Given the description of an element on the screen output the (x, y) to click on. 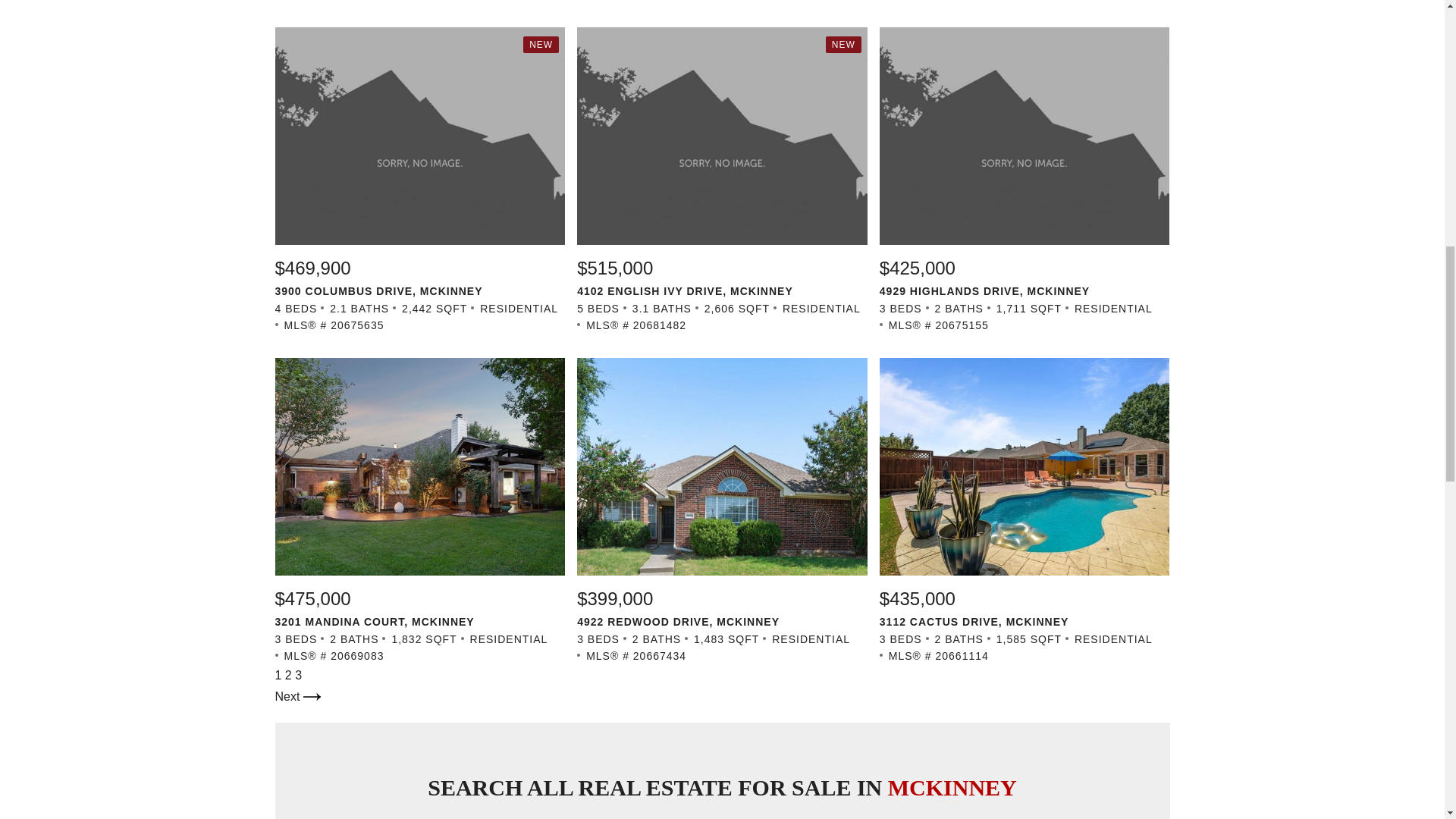
Next Page (297, 696)
